Given the description of an element on the screen output the (x, y) to click on. 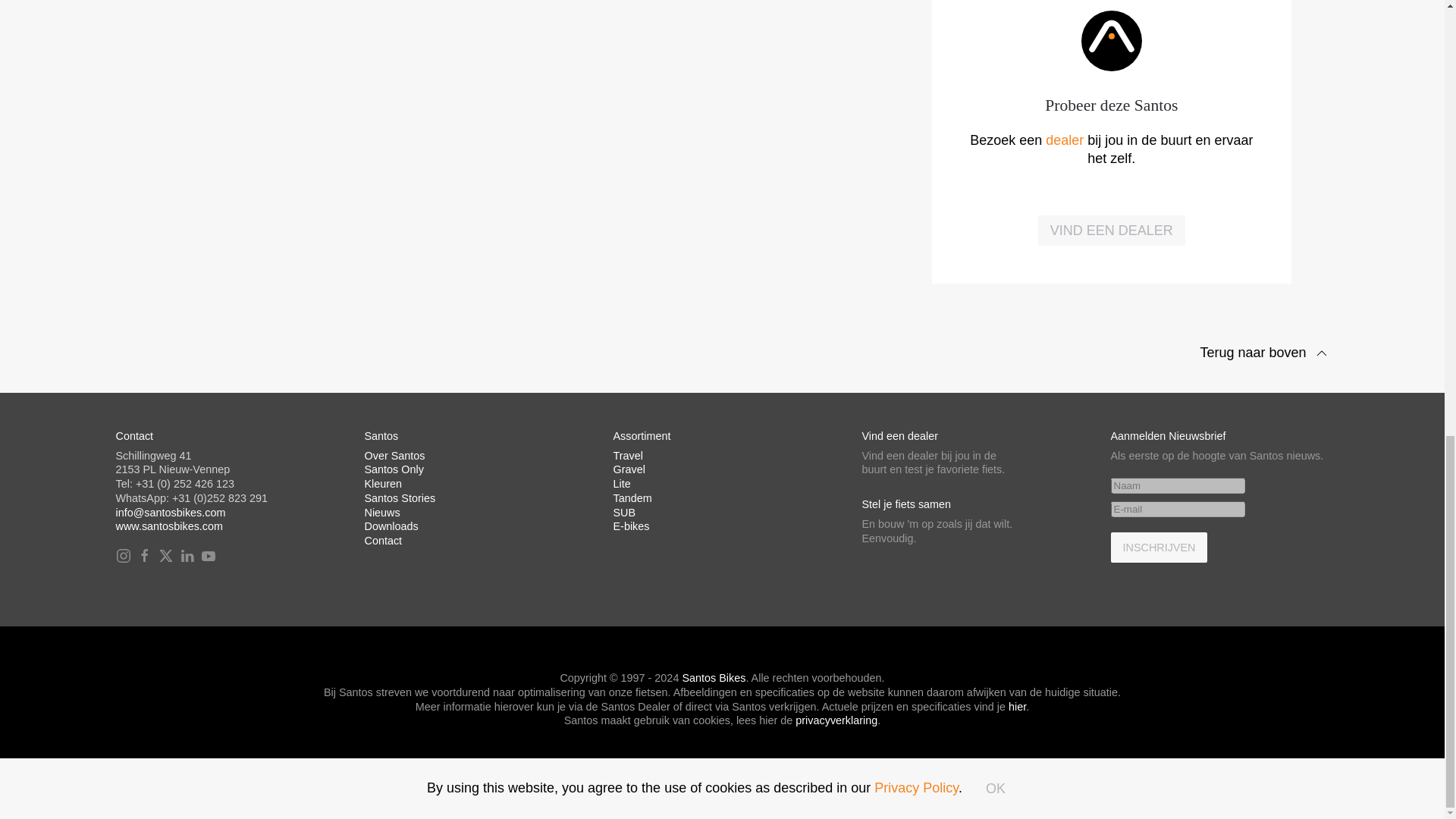
Inschrijven (1158, 547)
